Given the description of an element on the screen output the (x, y) to click on. 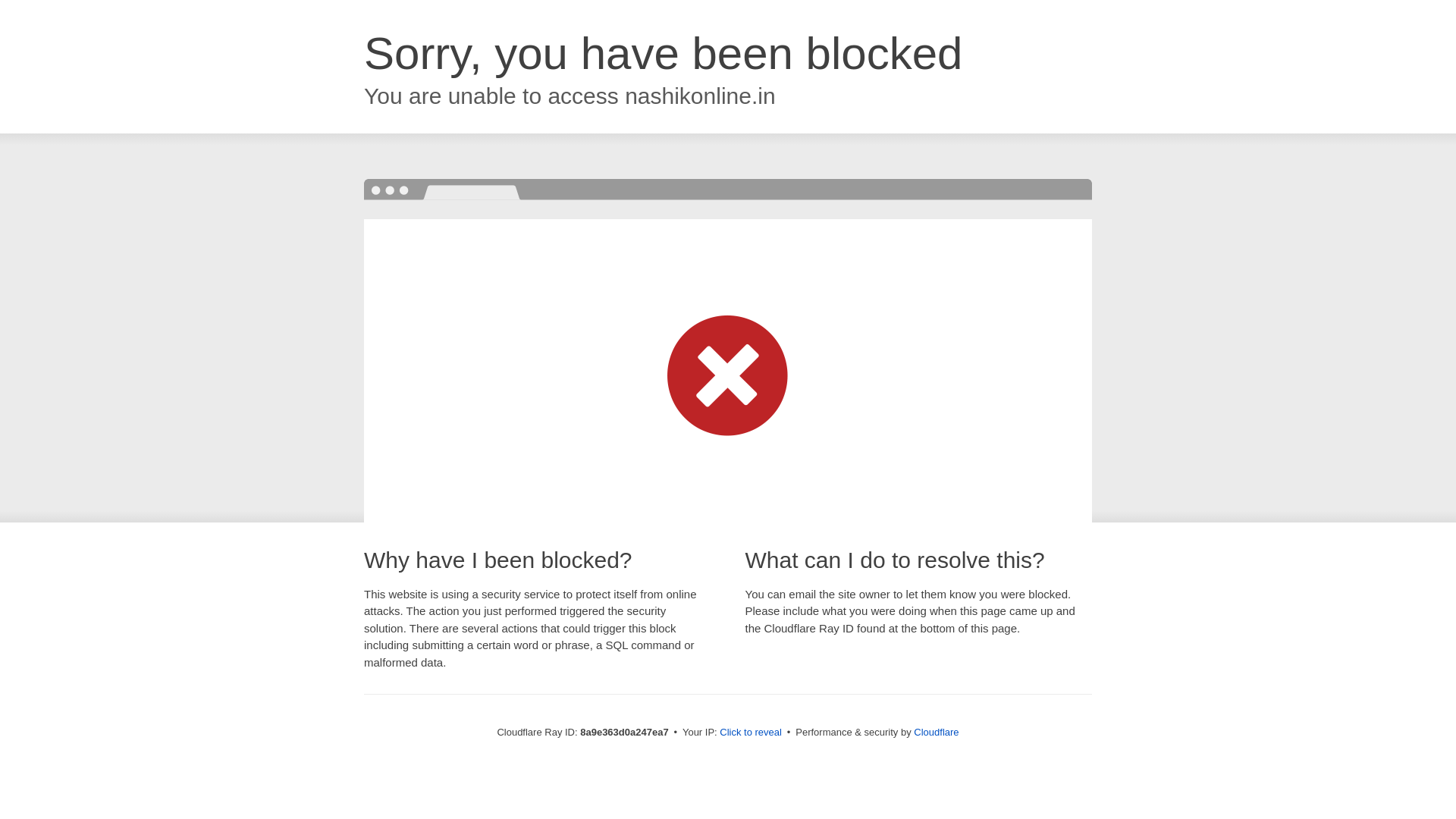
Click to reveal (750, 732)
Cloudflare (936, 731)
